Given the description of an element on the screen output the (x, y) to click on. 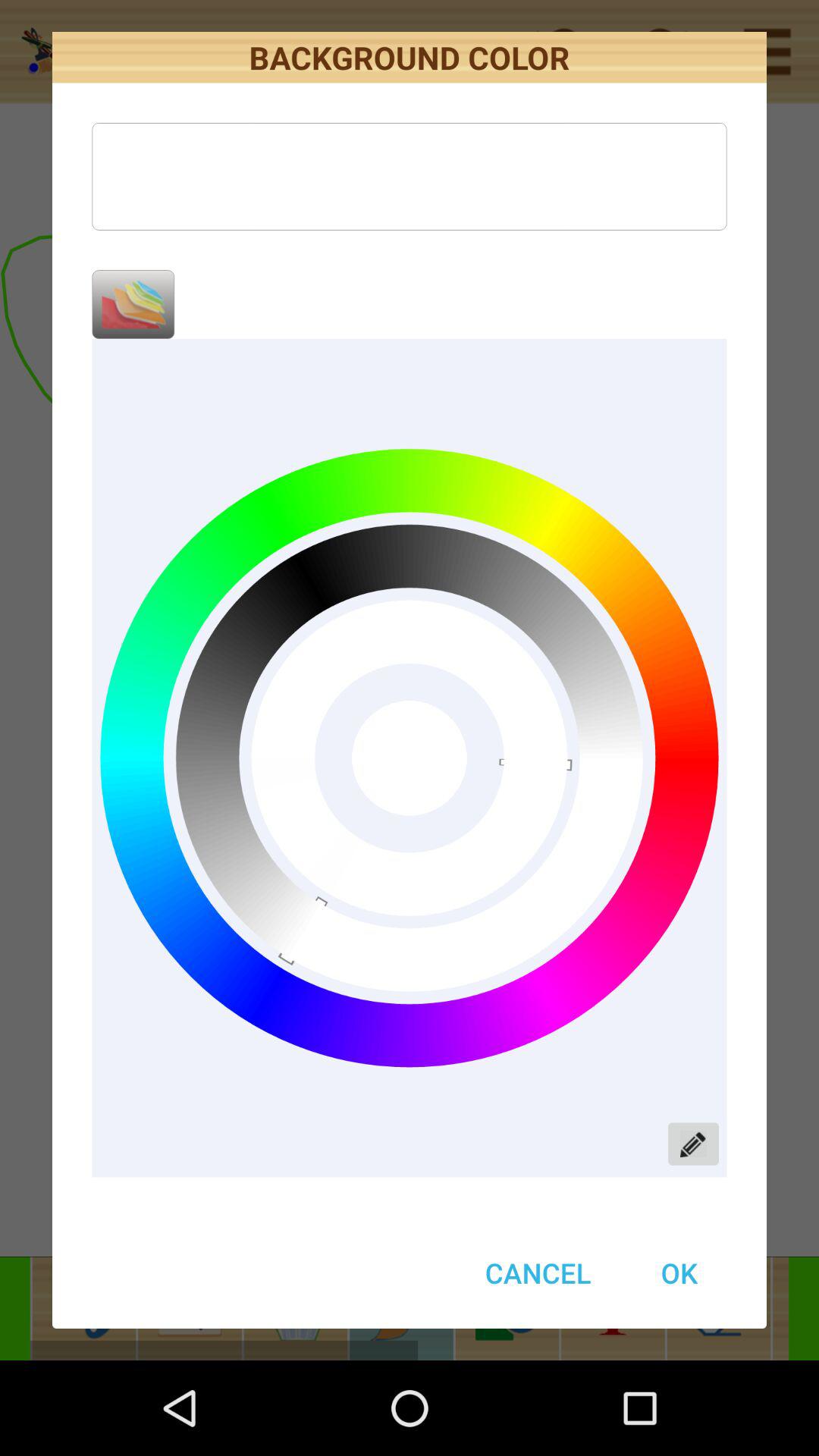
open ok (678, 1272)
